Given the description of an element on the screen output the (x, y) to click on. 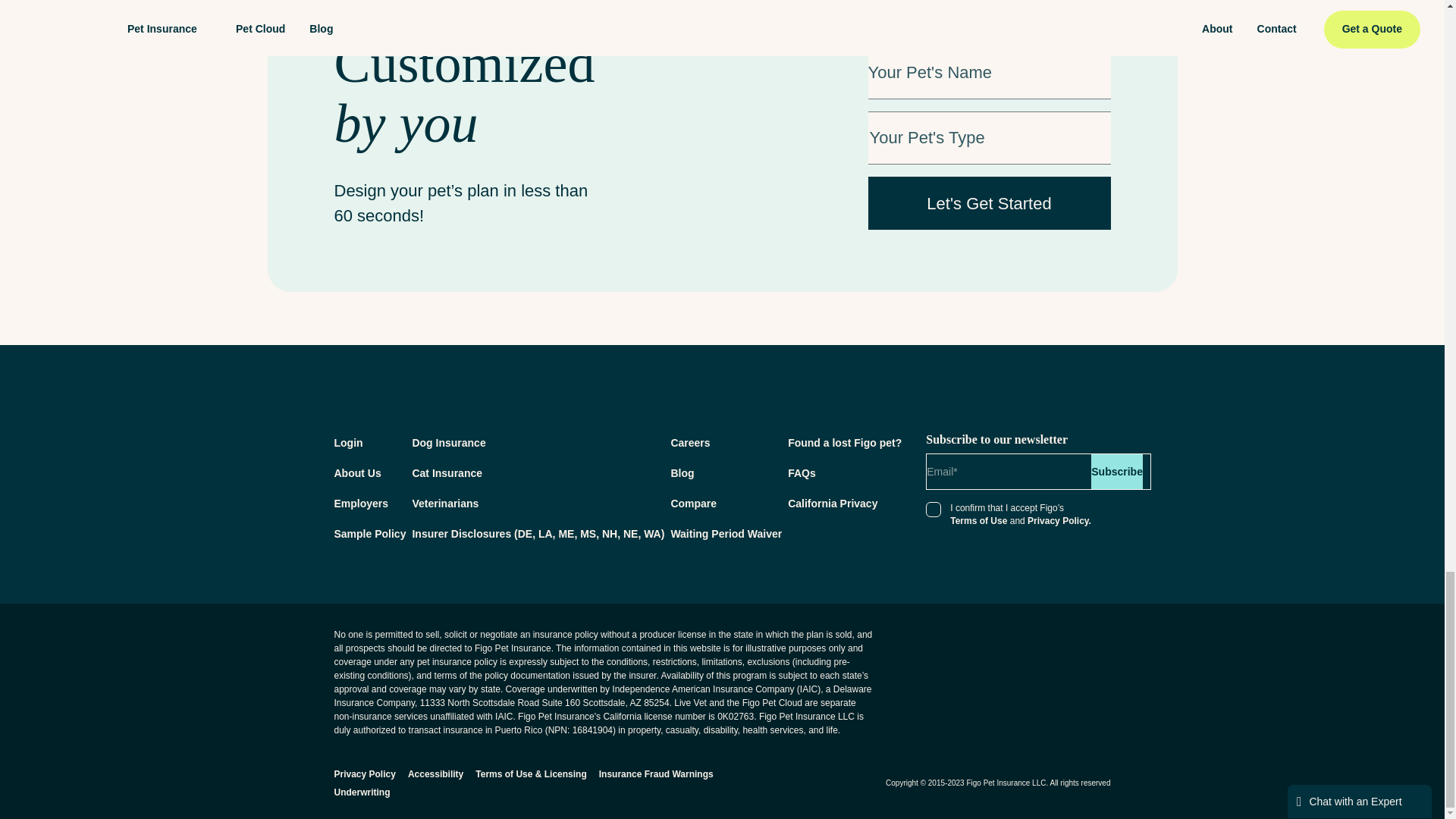
Veterinarians (445, 503)
Let's Get Started (988, 203)
Found a lost Figo pet? (844, 442)
opens in a new window  (369, 533)
Careers (689, 442)
Login (347, 442)
Terms of Use (978, 520)
Privacy Policy (363, 774)
Subscribe (1116, 471)
Dog Insurance (448, 442)
opens in a new window  (655, 774)
FAQs (801, 472)
Waiting Period Waiver (725, 533)
opens in a new window  (1018, 646)
opens in a new window  (347, 442)
